Given the description of an element on the screen output the (x, y) to click on. 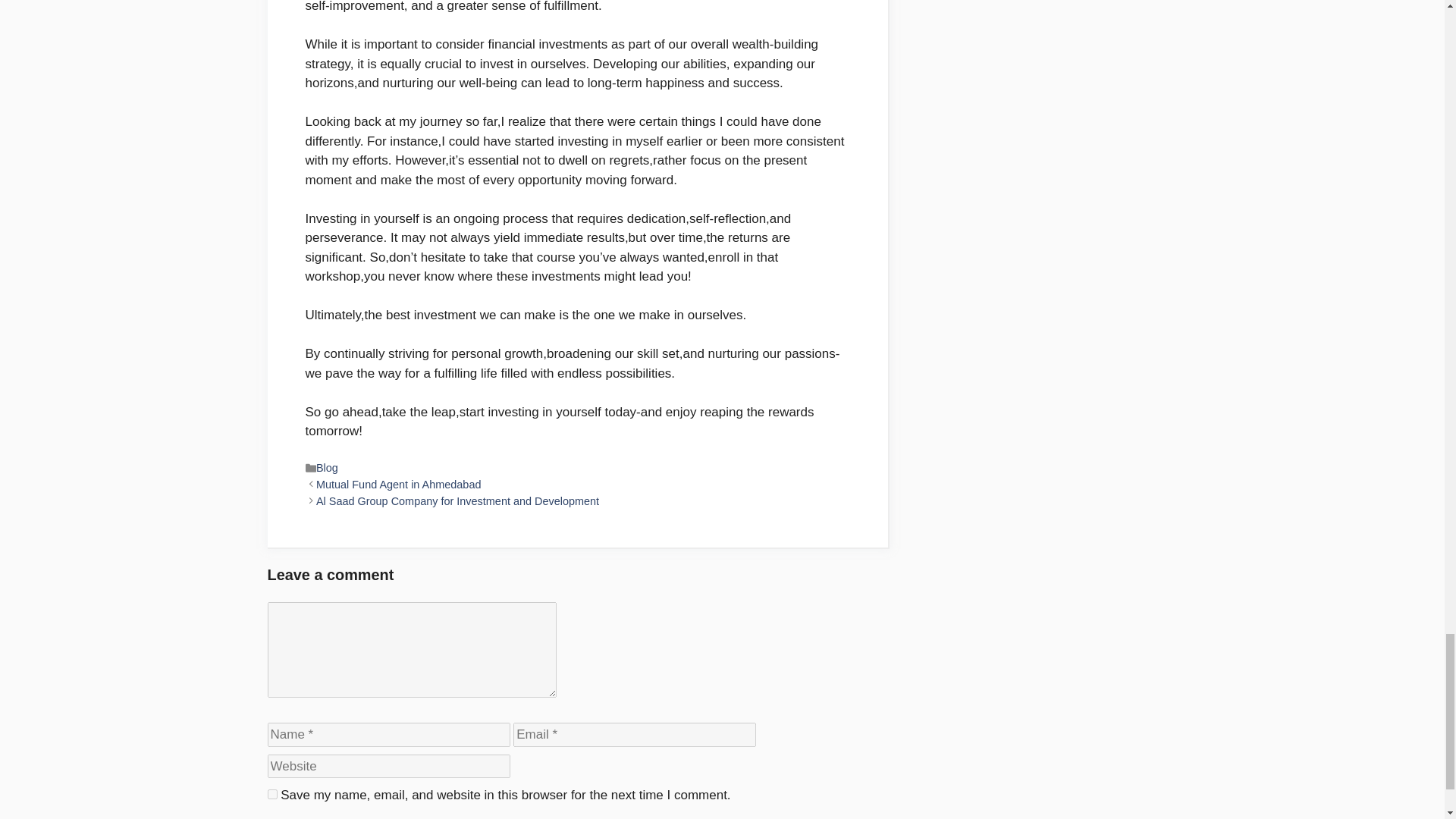
Blog (326, 467)
Mutual Fund Agent in Ahmedabad (398, 484)
Al Saad Group Company for Investment and Development (456, 500)
yes (271, 794)
